Given the description of an element on the screen output the (x, y) to click on. 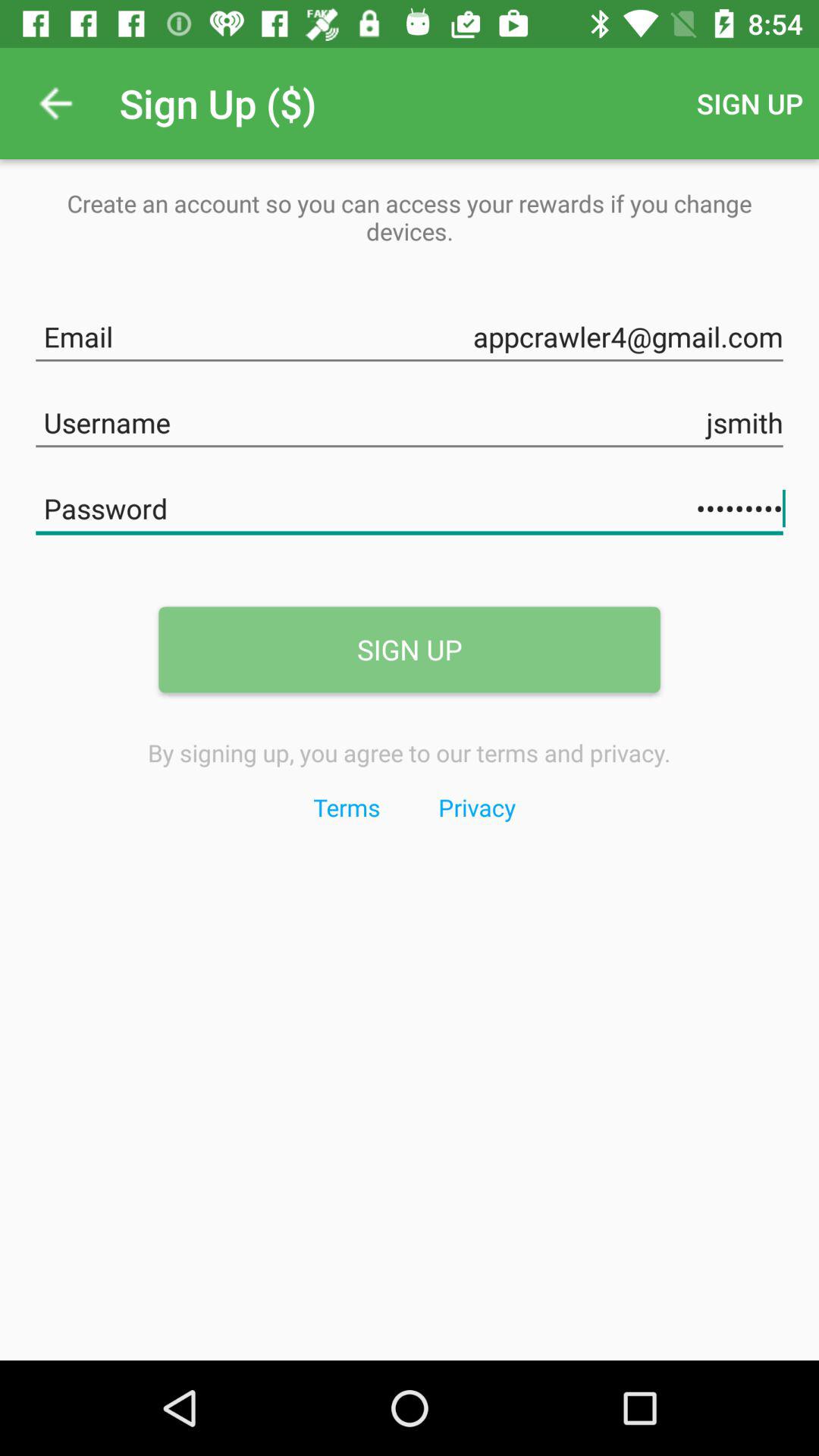
choose icon above create an account item (55, 103)
